Given the description of an element on the screen output the (x, y) to click on. 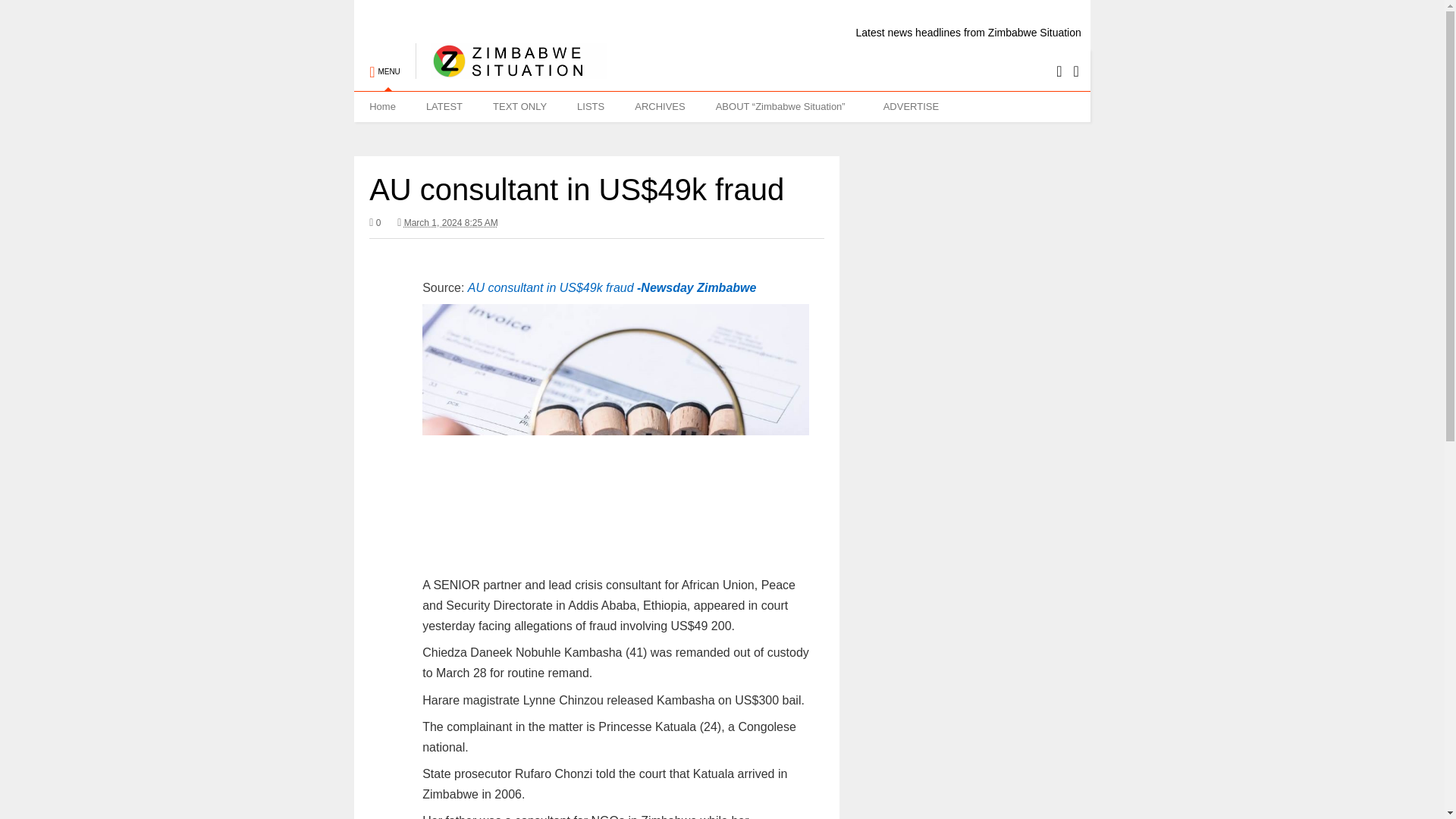
March 1, 2024 8:25 AM (447, 222)
ARCHIVES (660, 106)
MENU (383, 65)
Home (381, 106)
Zimbabwe Situation (510, 71)
LATEST (443, 106)
LISTS (591, 106)
TEXT ONLY (519, 106)
ADVERTISE (910, 106)
March 1, 2024 8:18 AM (450, 222)
